Given the description of an element on the screen output the (x, y) to click on. 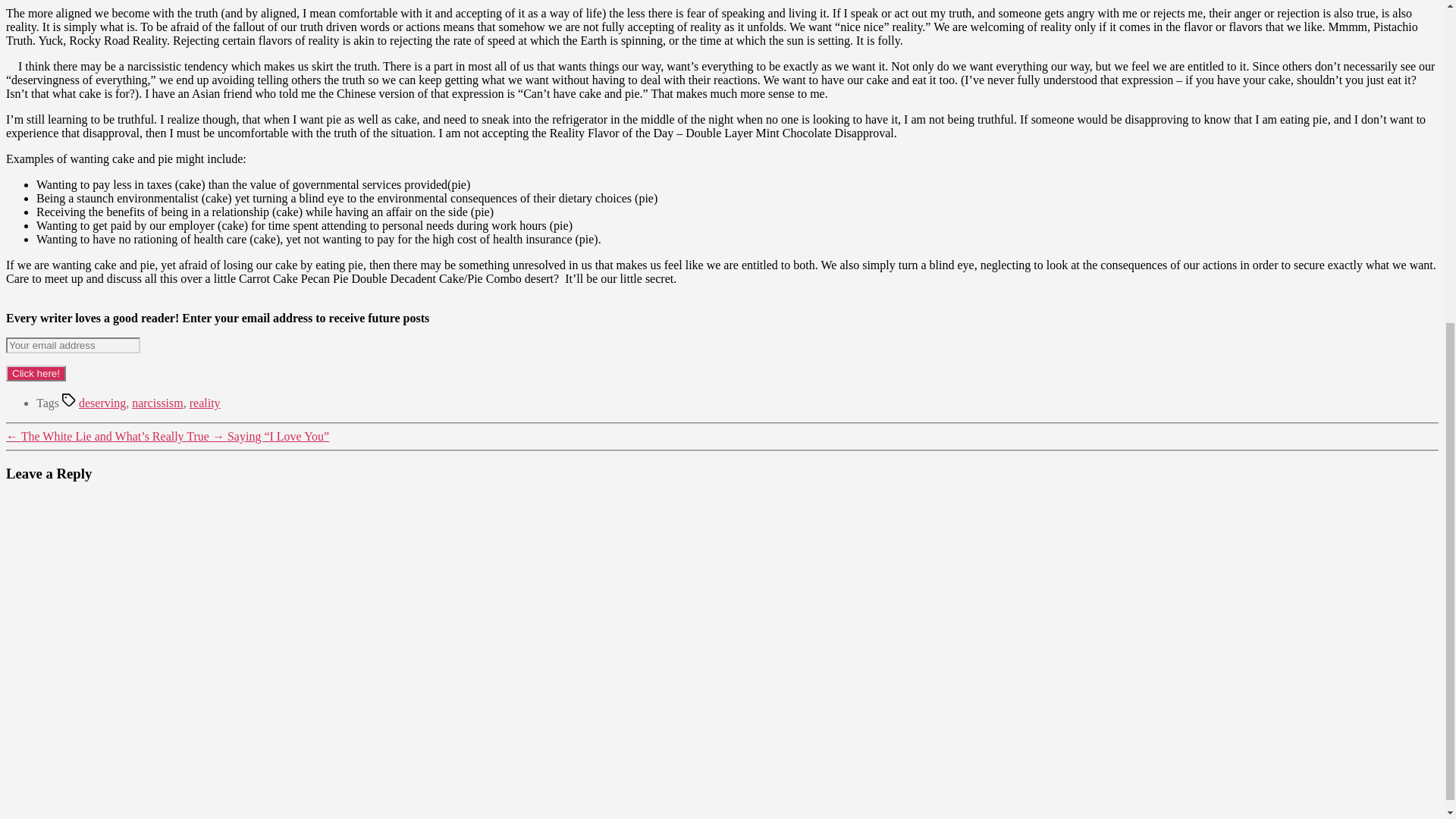
narcissism (157, 402)
reality (205, 402)
Click here! (35, 373)
Click here! (35, 373)
deserving (101, 402)
